Given the description of an element on the screen output the (x, y) to click on. 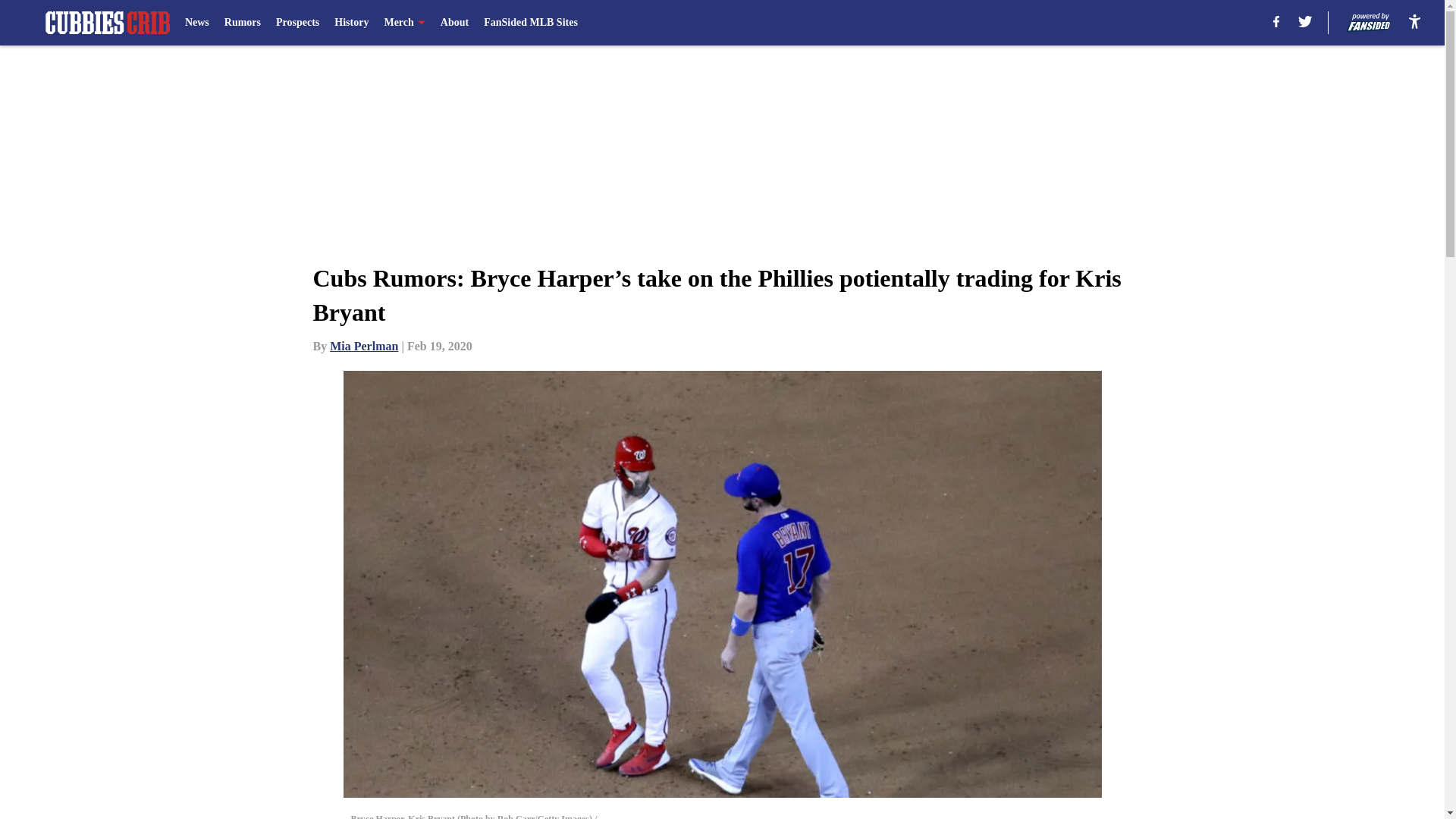
Rumors (242, 22)
Mia Perlman (363, 345)
Prospects (297, 22)
About (454, 22)
News (196, 22)
History (351, 22)
FanSided MLB Sites (530, 22)
